Given the description of an element on the screen output the (x, y) to click on. 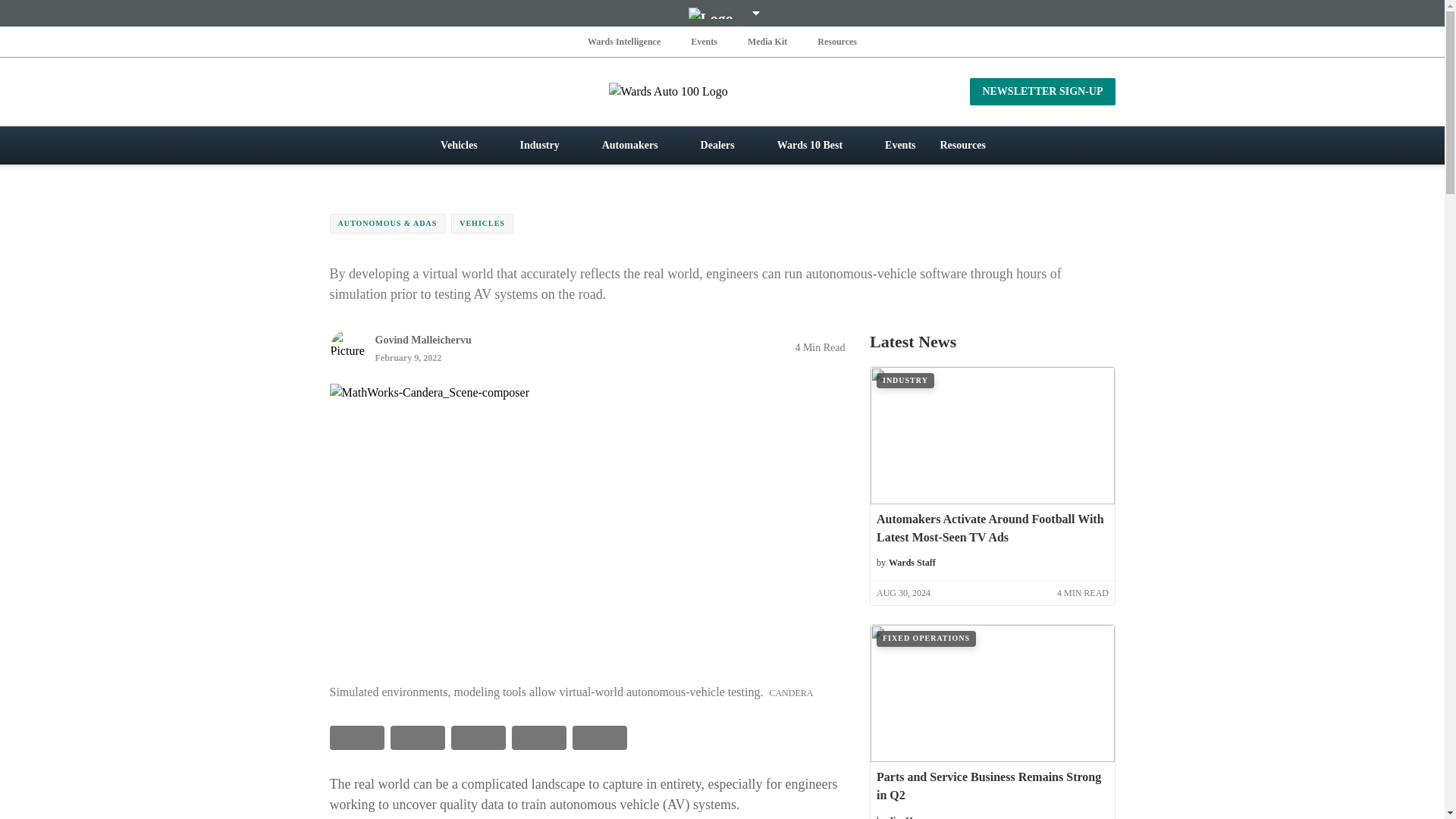
Resources (836, 41)
Events (703, 41)
Picture of Govind Malleichervu (347, 347)
NEWSLETTER SIGN-UP (1042, 90)
Wards Auto 100 Logo (721, 91)
Media Kit (767, 41)
Wards Intelligence (624, 41)
